Given the description of an element on the screen output the (x, y) to click on. 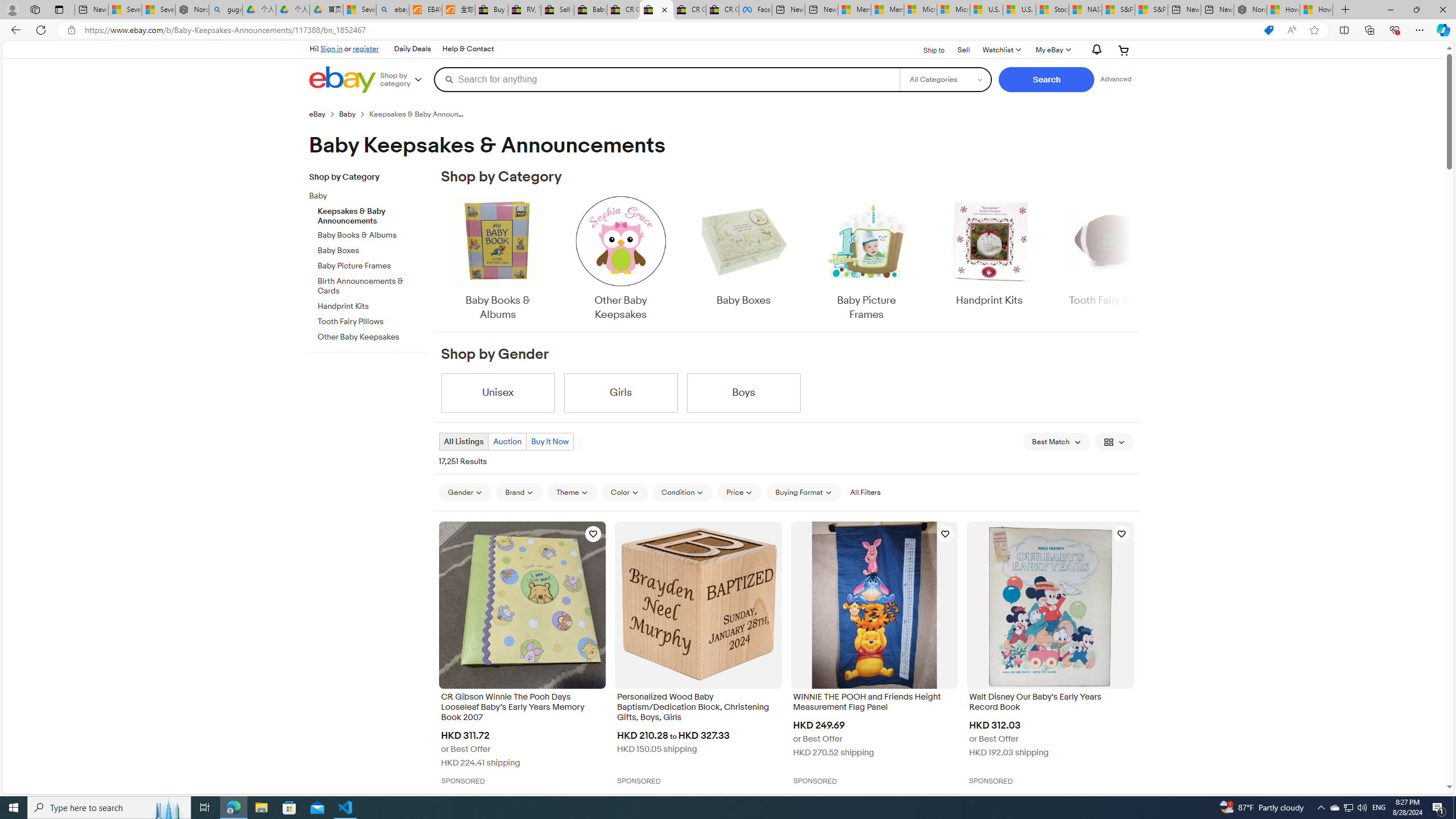
Baby Boxes (742, 251)
Select a category for search (945, 78)
Sell (963, 49)
ebay - Search (392, 9)
Buy It Now (549, 441)
New tab (1217, 9)
WatchlistExpand Watch List (1000, 49)
register (366, 48)
Split screen (1344, 29)
All Filters (864, 492)
Buying Format (803, 492)
Color (624, 492)
